Given the description of an element on the screen output the (x, y) to click on. 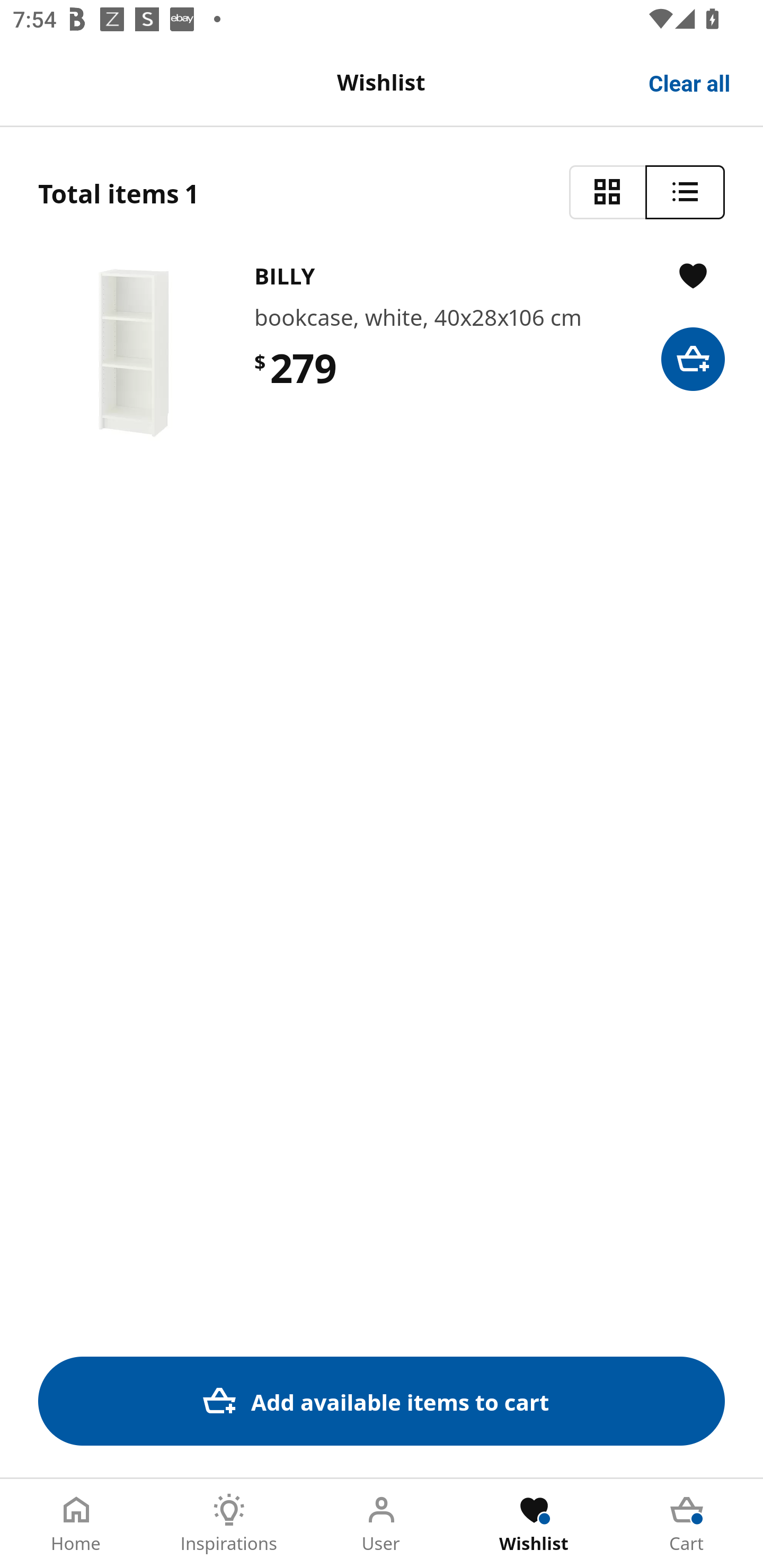
Clear all (689, 81)
​B​I​L​L​Y​
bookcase, white, 40x28x106 cm
$
279 (381, 352)
Add available items to cart (381, 1400)
Home
Tab 1 of 5 (76, 1522)
Inspirations
Tab 2 of 5 (228, 1522)
User
Tab 3 of 5 (381, 1522)
Wishlist
Tab 4 of 5 (533, 1522)
Cart
Tab 5 of 5 (686, 1522)
